Given the description of an element on the screen output the (x, y) to click on. 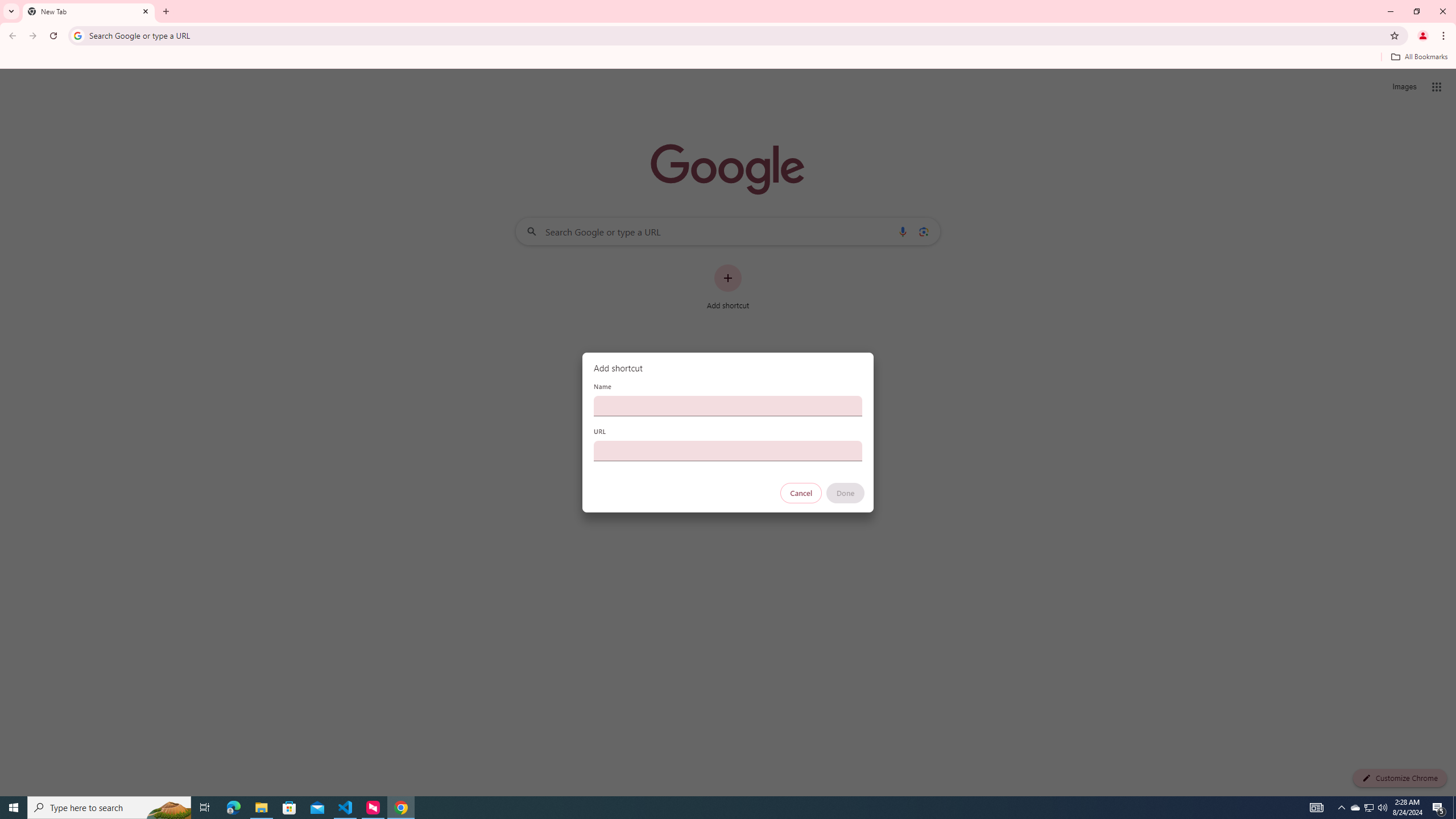
URL (727, 450)
